Given the description of an element on the screen output the (x, y) to click on. 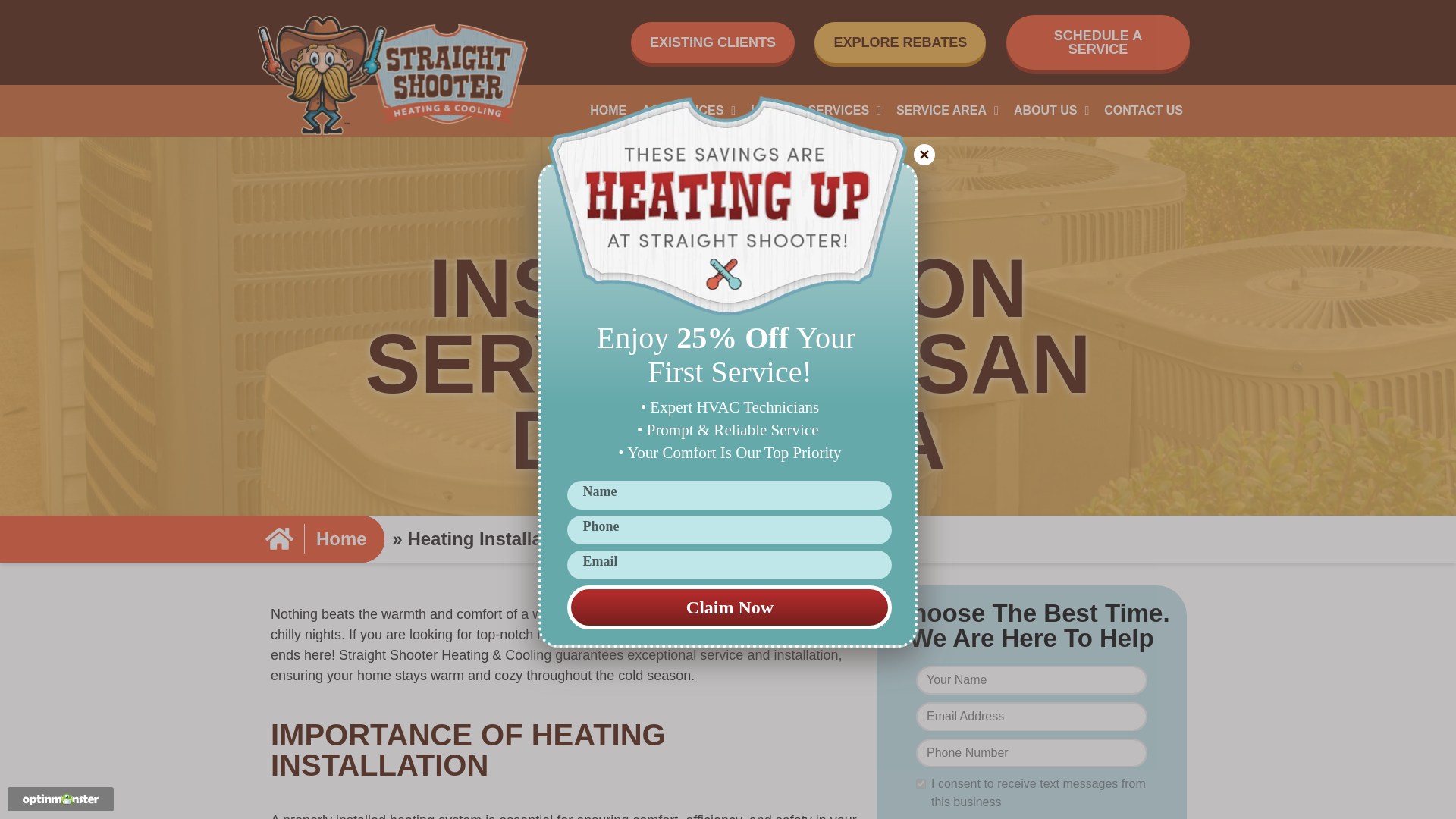
HEATING SERVICES (812, 113)
SERVICE AREA (931, 112)
HOME (673, 118)
AC SERVICES (726, 117)
EXISTING CLIENTS (715, 54)
ABOUT US (1049, 110)
SCHEDULE A SERVICE (1143, 55)
CONTACT US (1143, 110)
EXPLORE REBATES (967, 57)
